Given the description of an element on the screen output the (x, y) to click on. 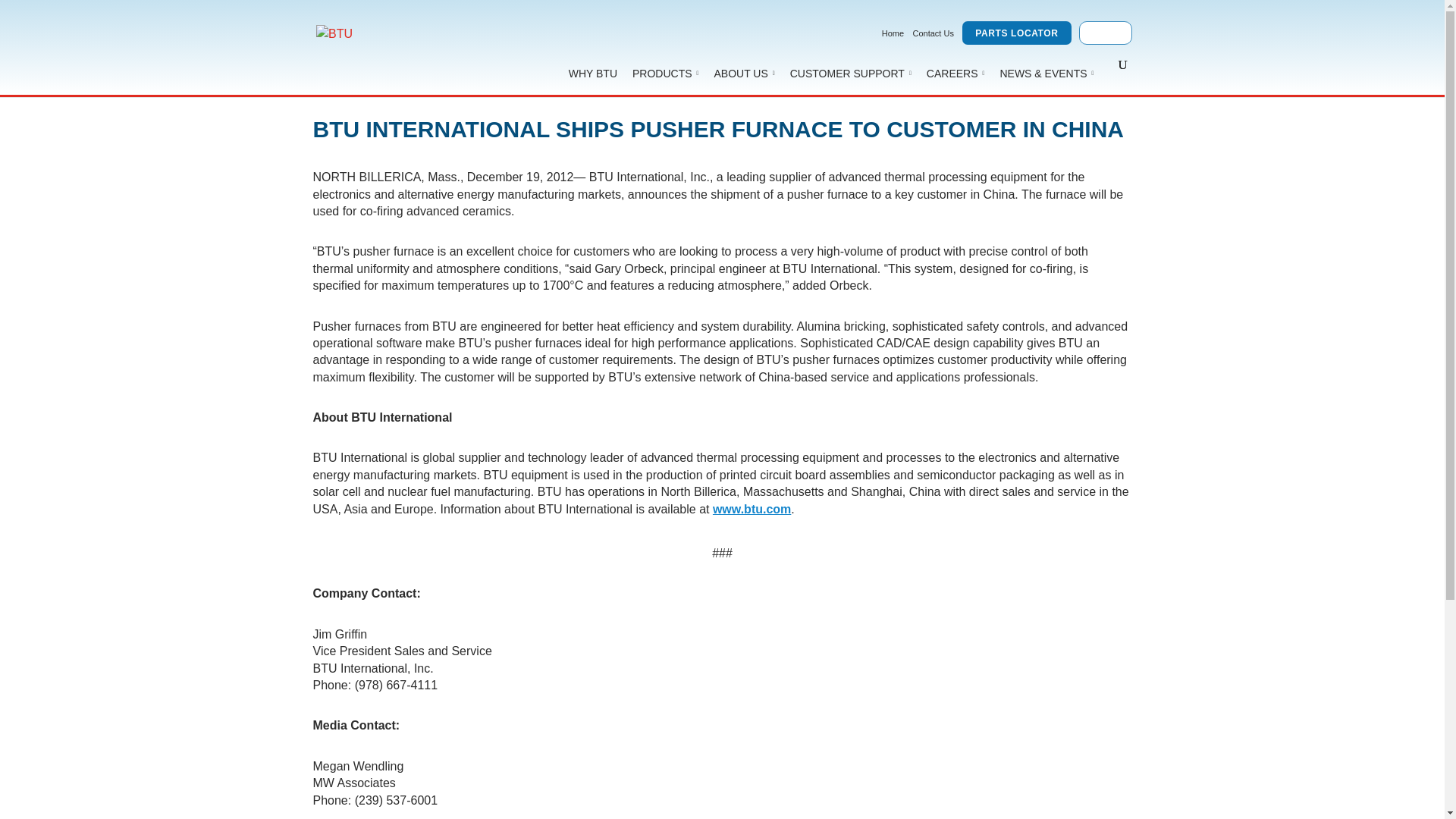
Home (893, 32)
ABOUT US (744, 73)
Contact Us (932, 32)
PARTS LOCATOR (1016, 33)
PRODUCTS (665, 73)
WHY BTU (592, 73)
